Given the description of an element on the screen output the (x, y) to click on. 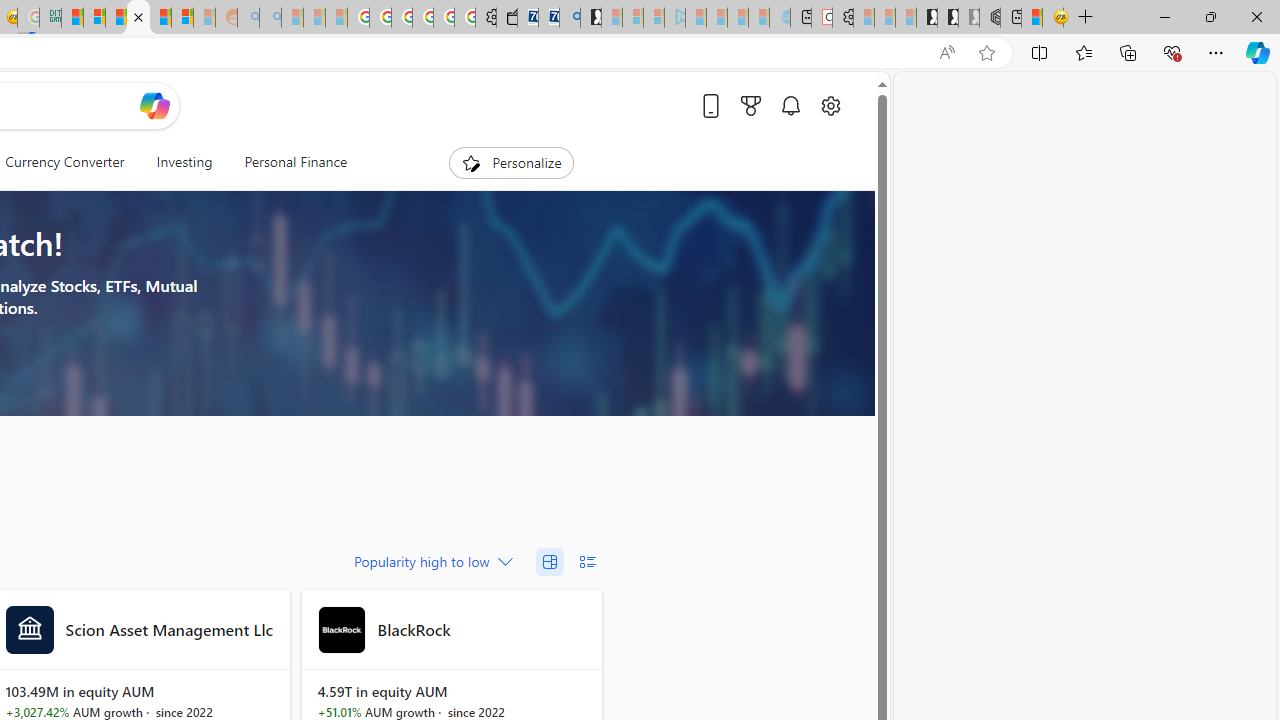
List View (587, 561)
Currency Converter (65, 162)
Expert Portfolios (138, 17)
